Given the description of an element on the screen output the (x, y) to click on. 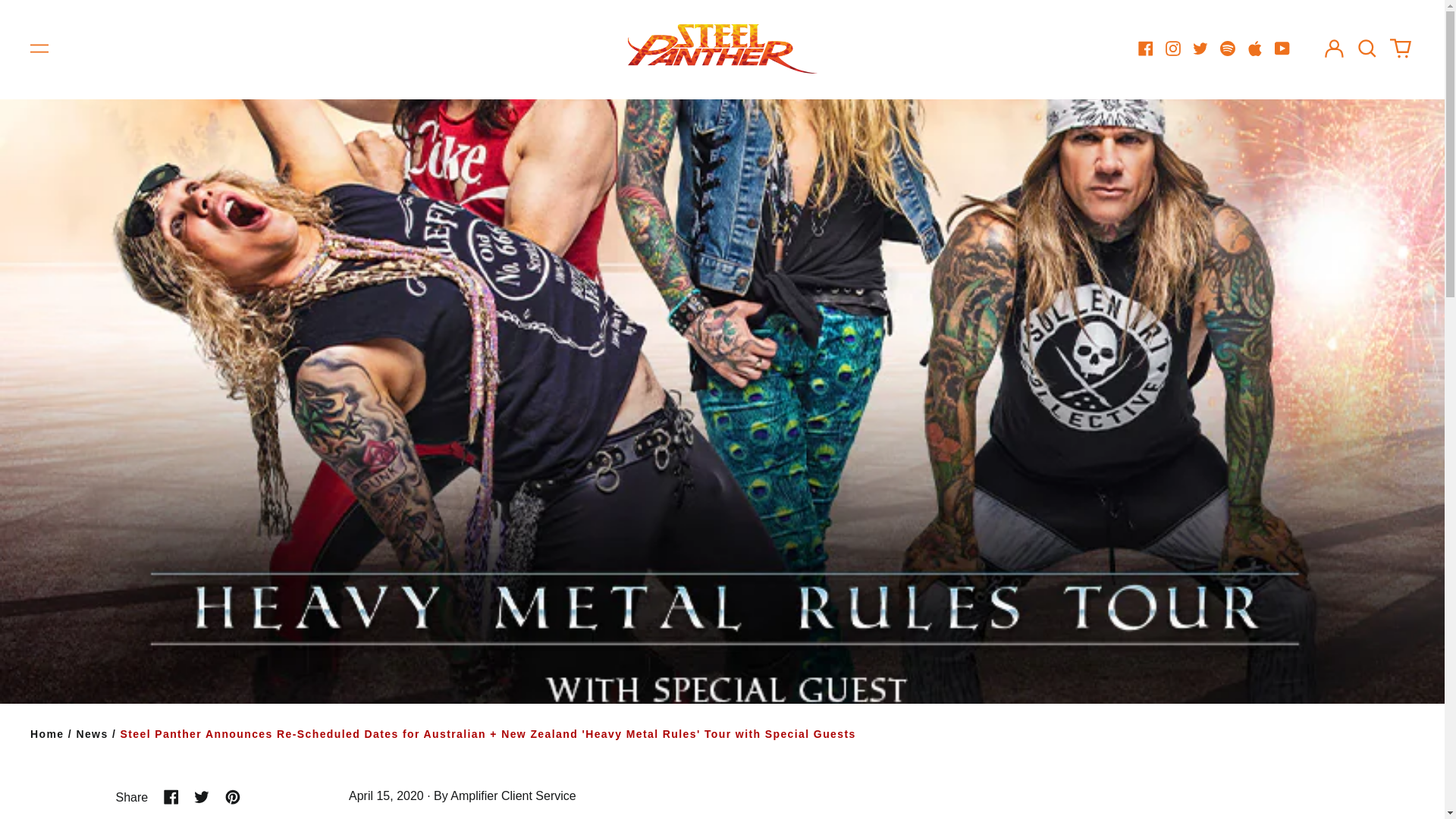
Home (47, 734)
